Given the description of an element on the screen output the (x, y) to click on. 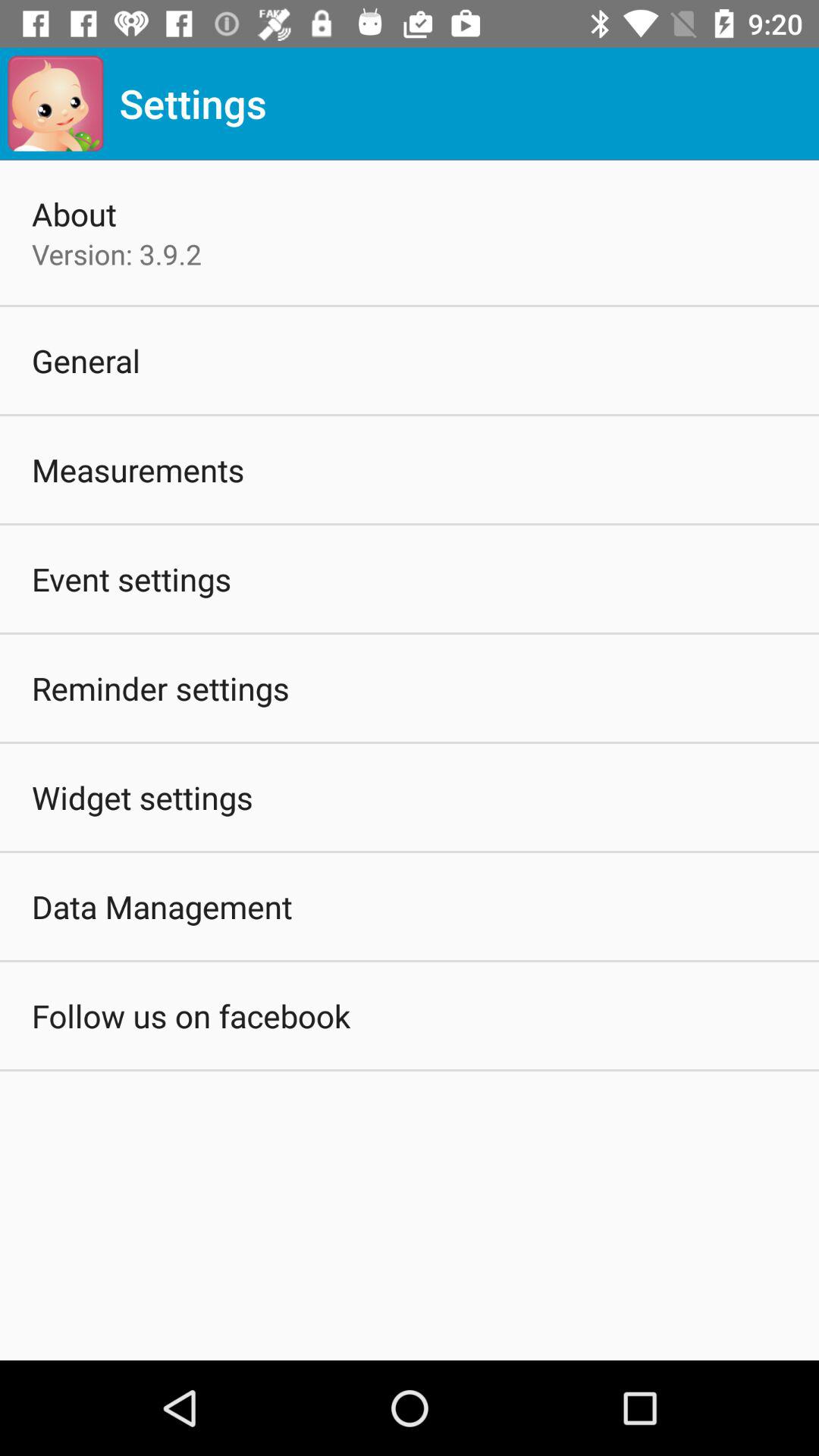
swipe until data management item (161, 906)
